Given the description of an element on the screen output the (x, y) to click on. 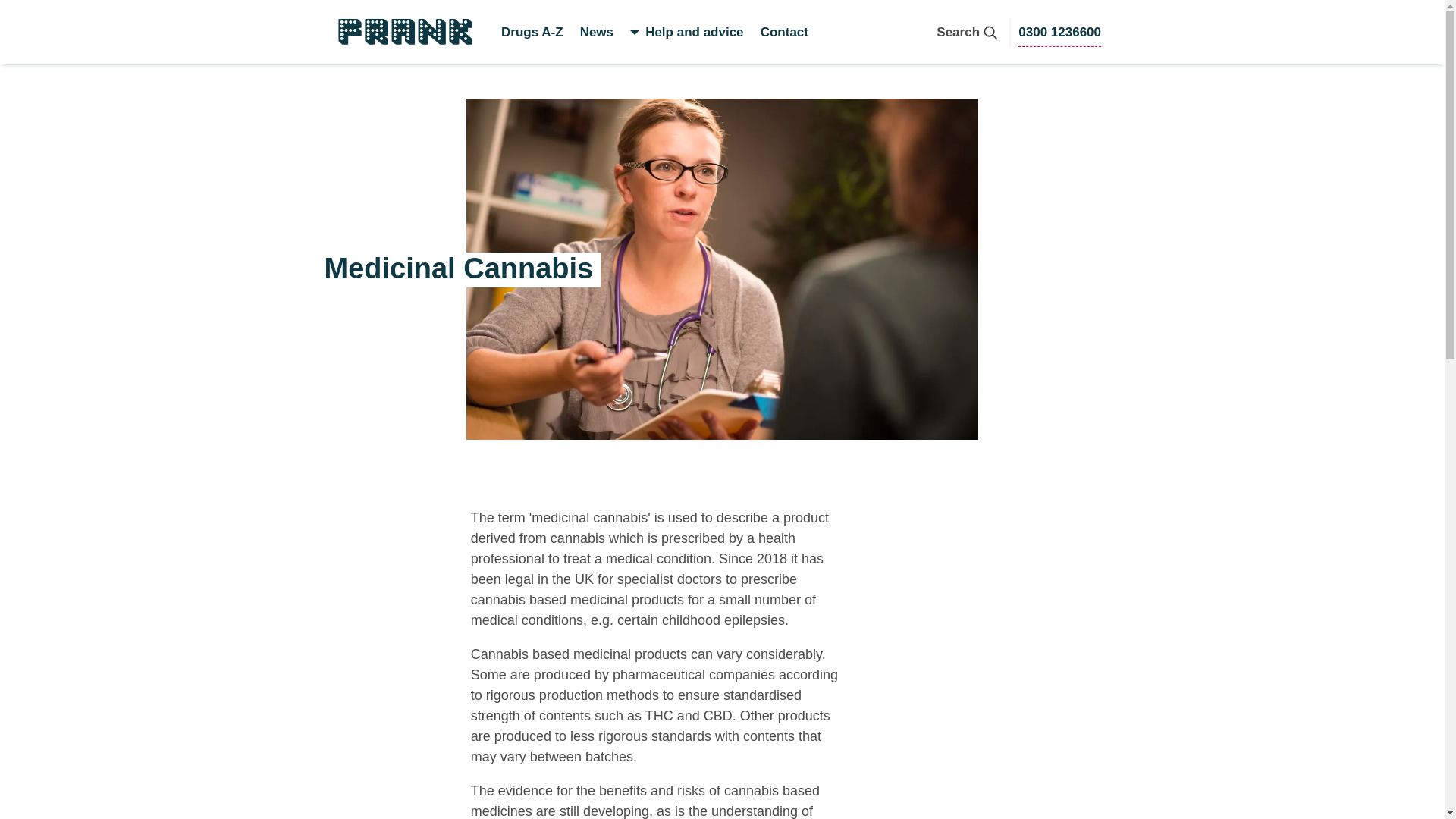
Drugs A-Z (531, 32)
Talk to Frank homepage (402, 30)
News (595, 32)
Help and advice (693, 32)
0300 1236600 (1058, 32)
Contact (966, 31)
